Given the description of an element on the screen output the (x, y) to click on. 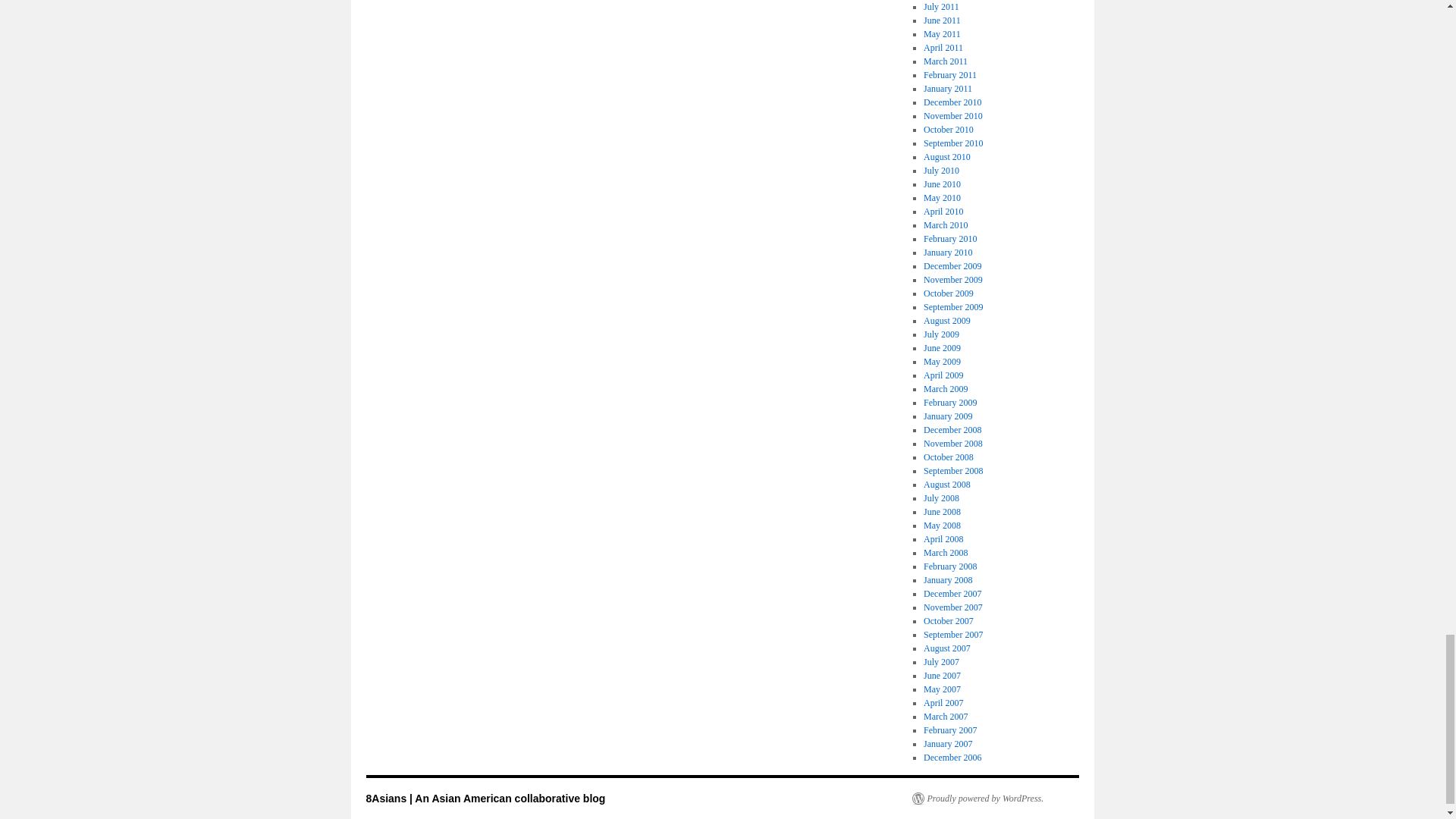
Semantic Personal Publishing Platform (977, 798)
